Given the description of an element on the screen output the (x, y) to click on. 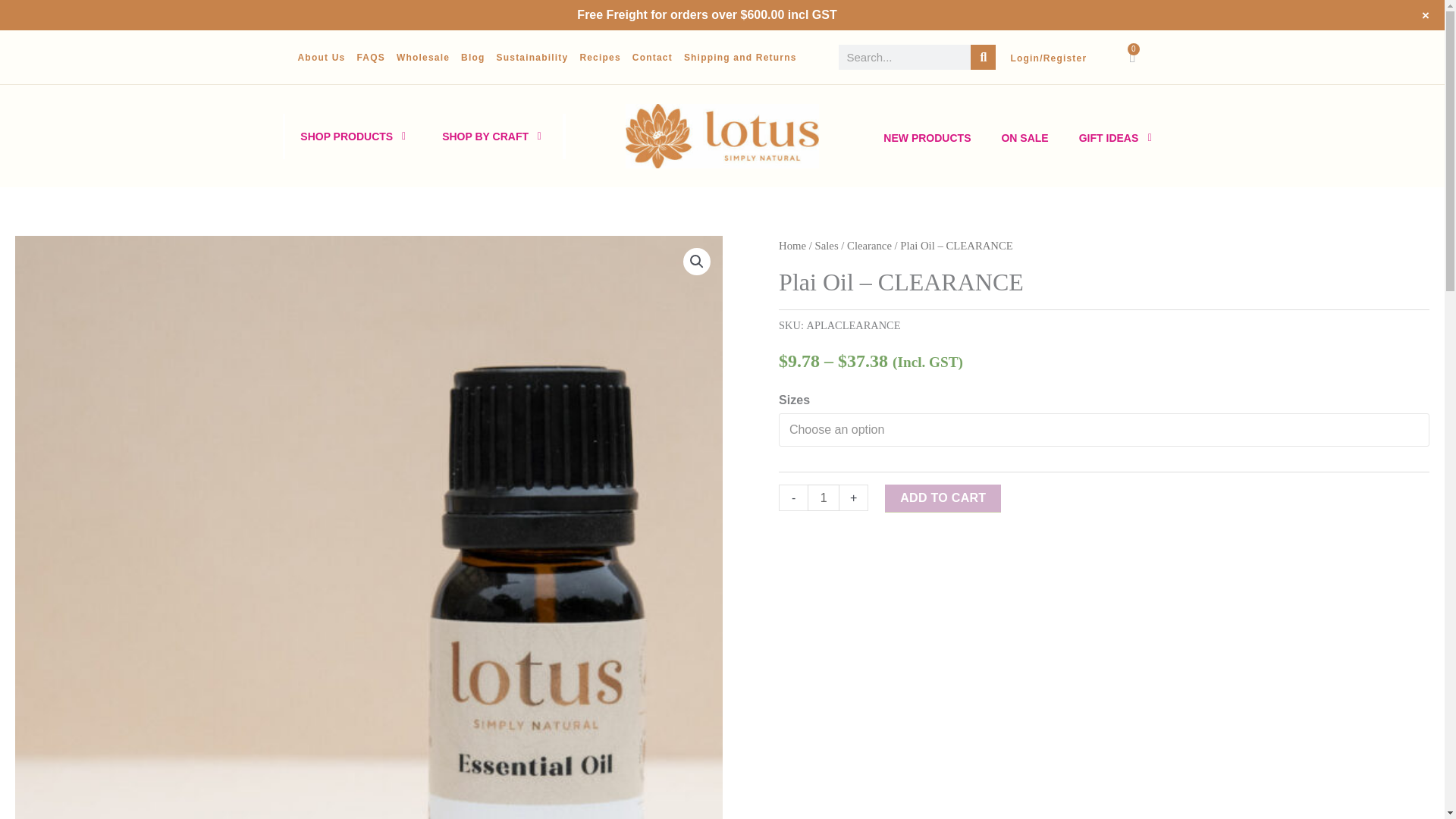
Recipes (599, 57)
1 (824, 497)
Shipping and Returns (740, 57)
Wholesale (422, 57)
Contact (651, 57)
Sustainability (532, 57)
Blog (472, 57)
SHOP PRODUCTS (347, 135)
Search (983, 57)
FAQS (370, 57)
About Us (321, 57)
